Given the description of an element on the screen output the (x, y) to click on. 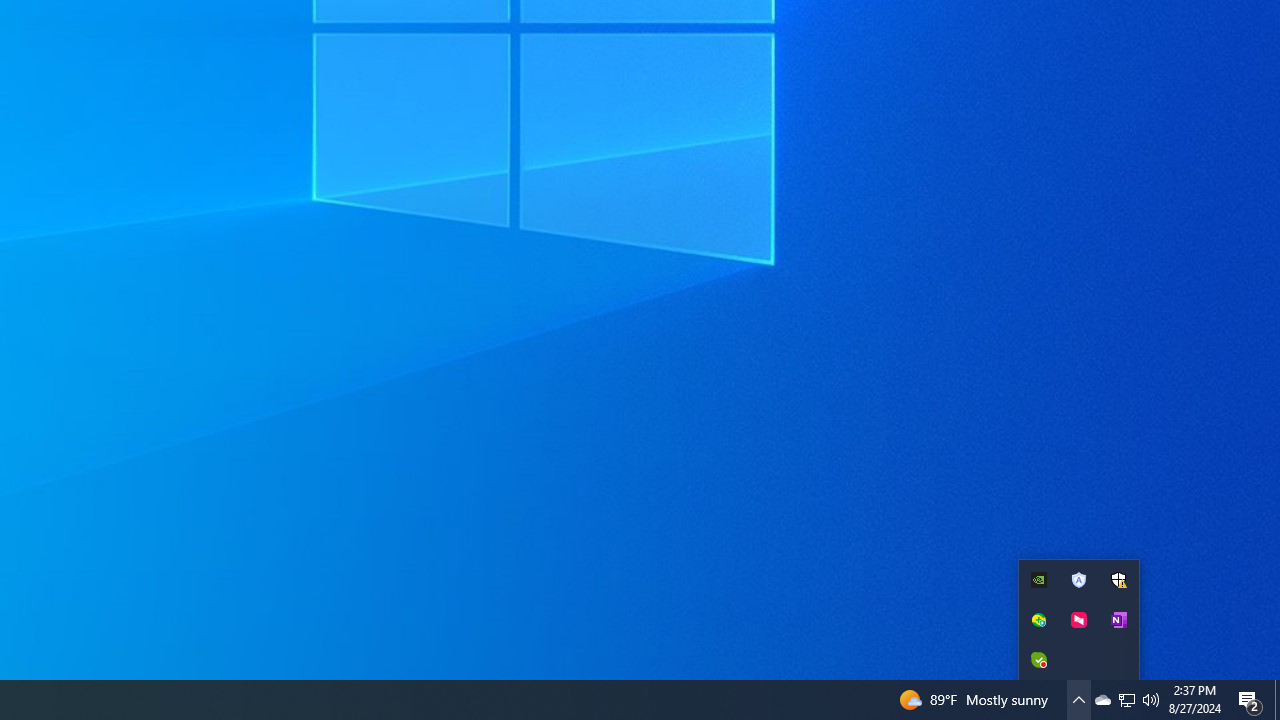
NVIDIA Settings (1038, 579)
